Given the description of an element on the screen output the (x, y) to click on. 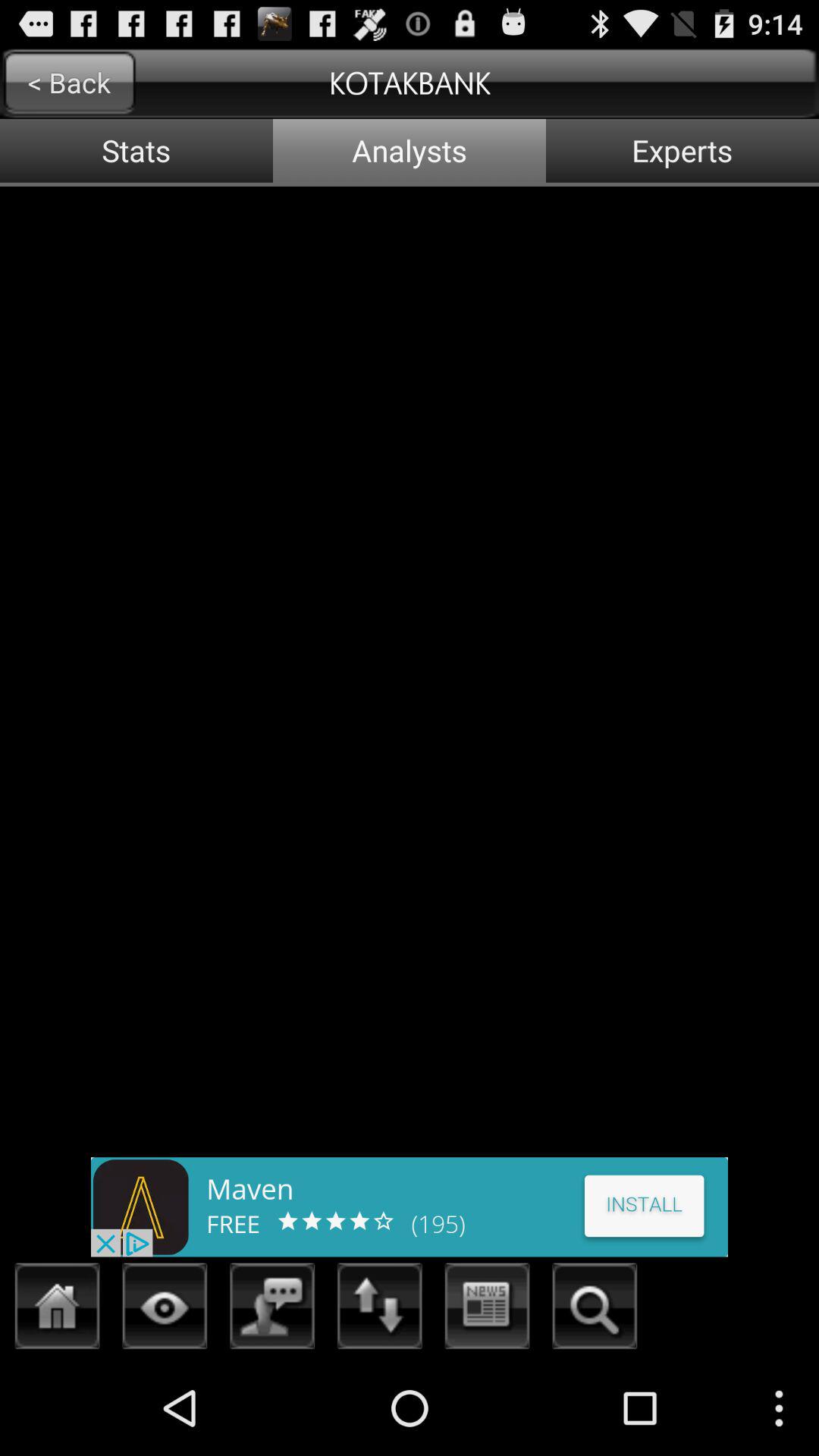
for visable (164, 1310)
